Given the description of an element on the screen output the (x, y) to click on. 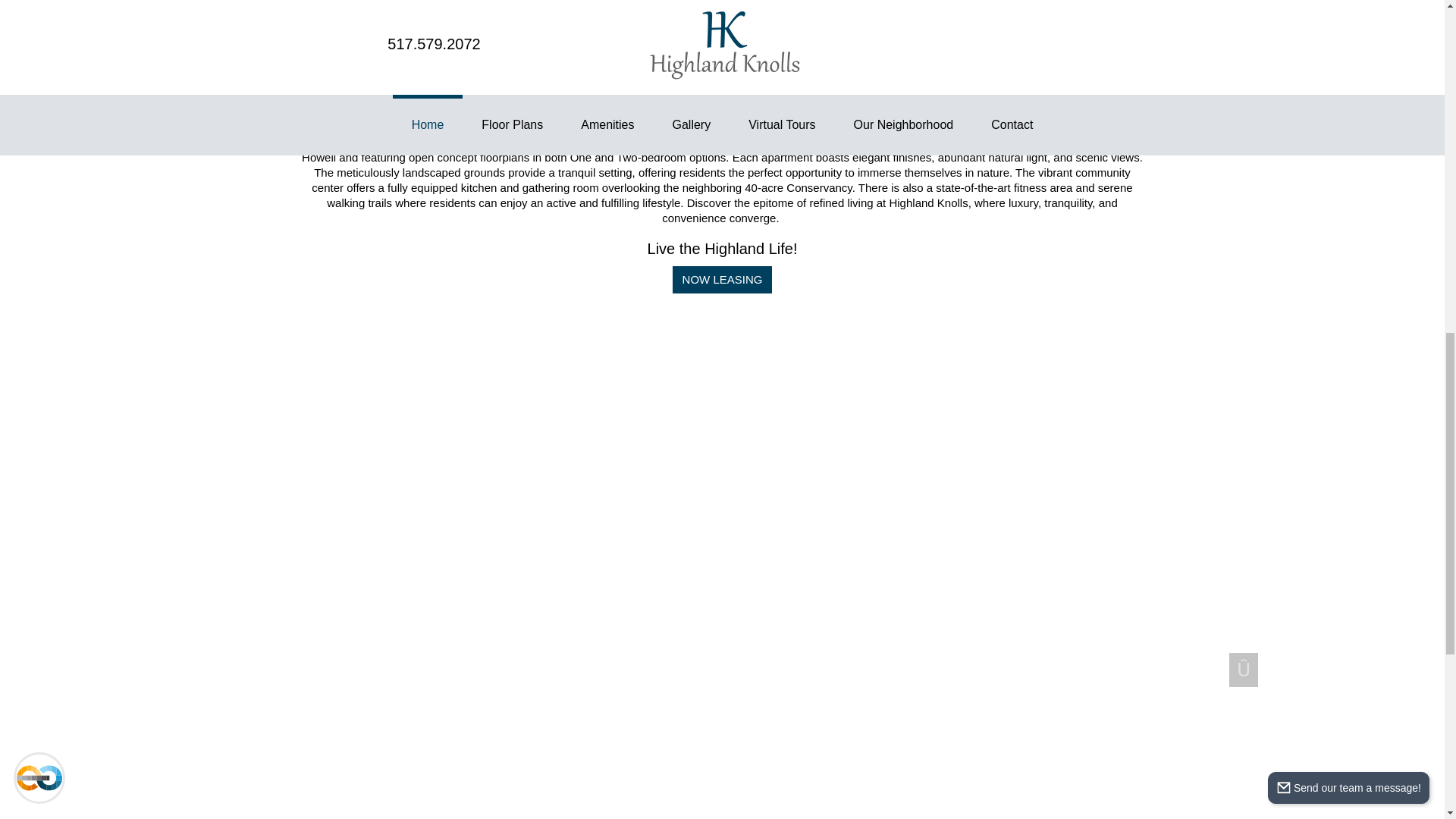
NOW LEASING (722, 280)
